Given the description of an element on the screen output the (x, y) to click on. 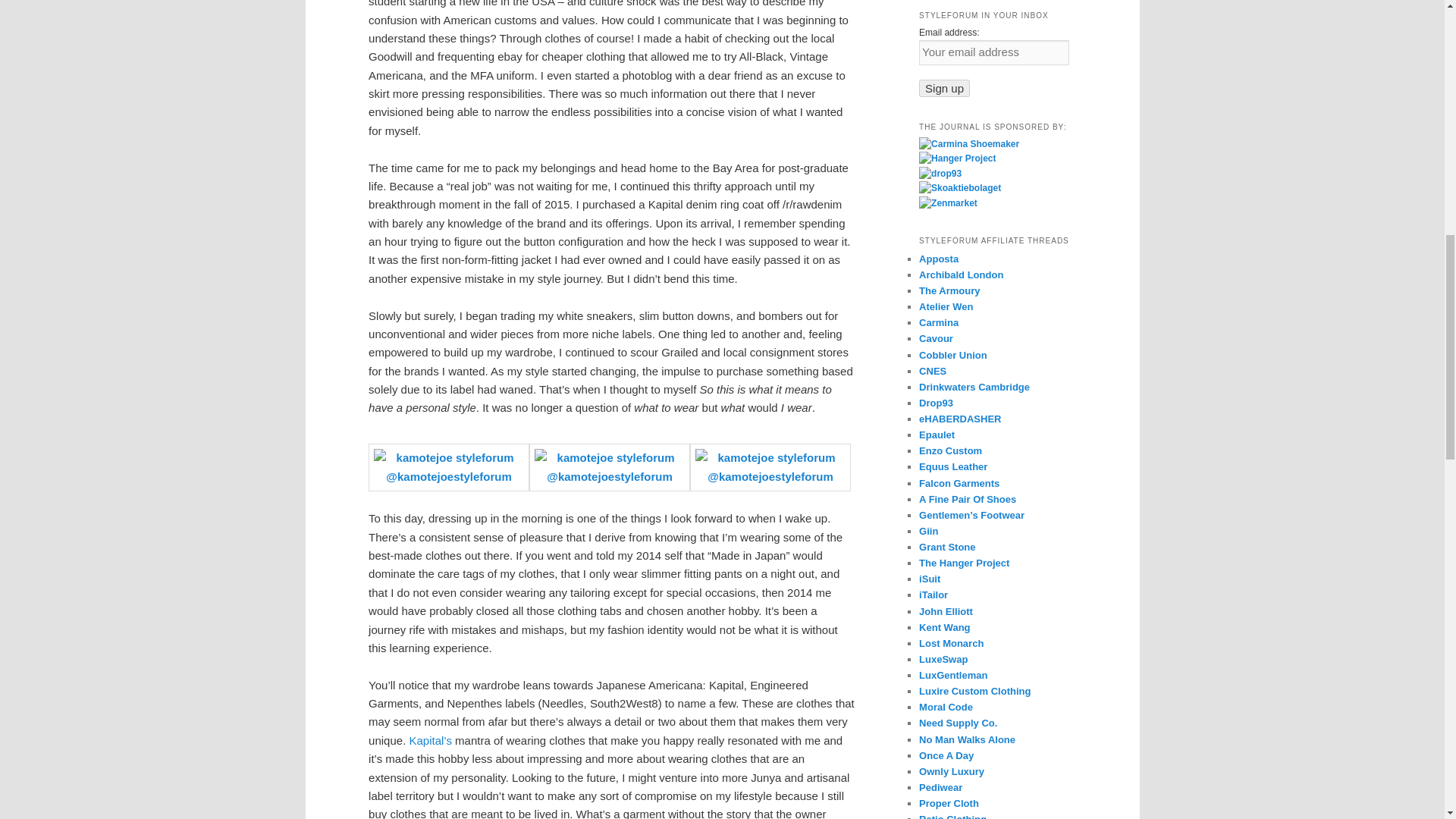
Sign up (943, 88)
